Given the description of an element on the screen output the (x, y) to click on. 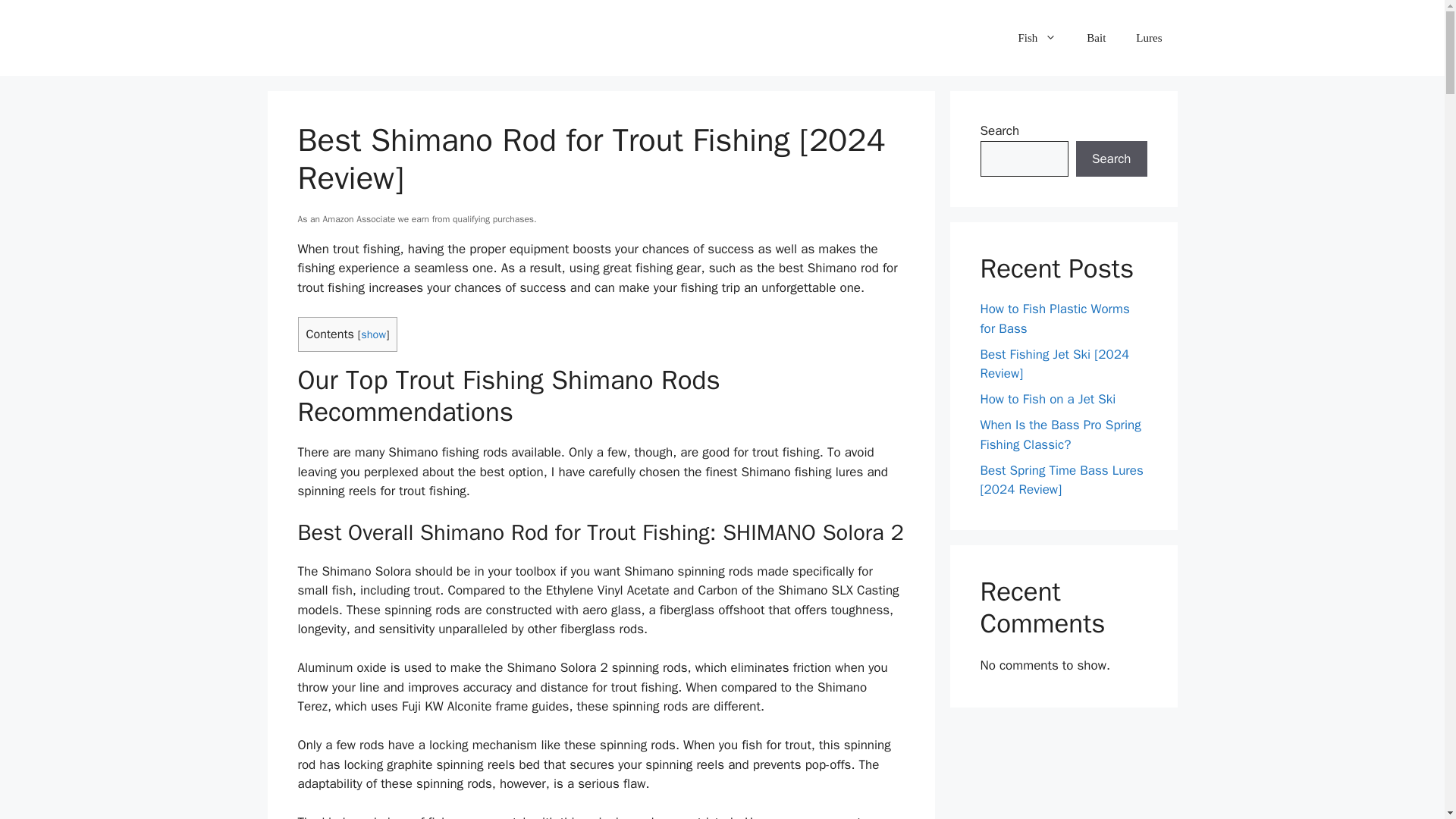
show (373, 334)
Lures (1148, 37)
When Is the Bass Pro Spring Fishing Classic? (1059, 434)
Search (1111, 158)
How to Fish on a Jet Ski (1047, 399)
Bait (1096, 37)
How to Fish Plastic Worms for Bass (1054, 318)
Fish (1037, 37)
